Given the description of an element on the screen output the (x, y) to click on. 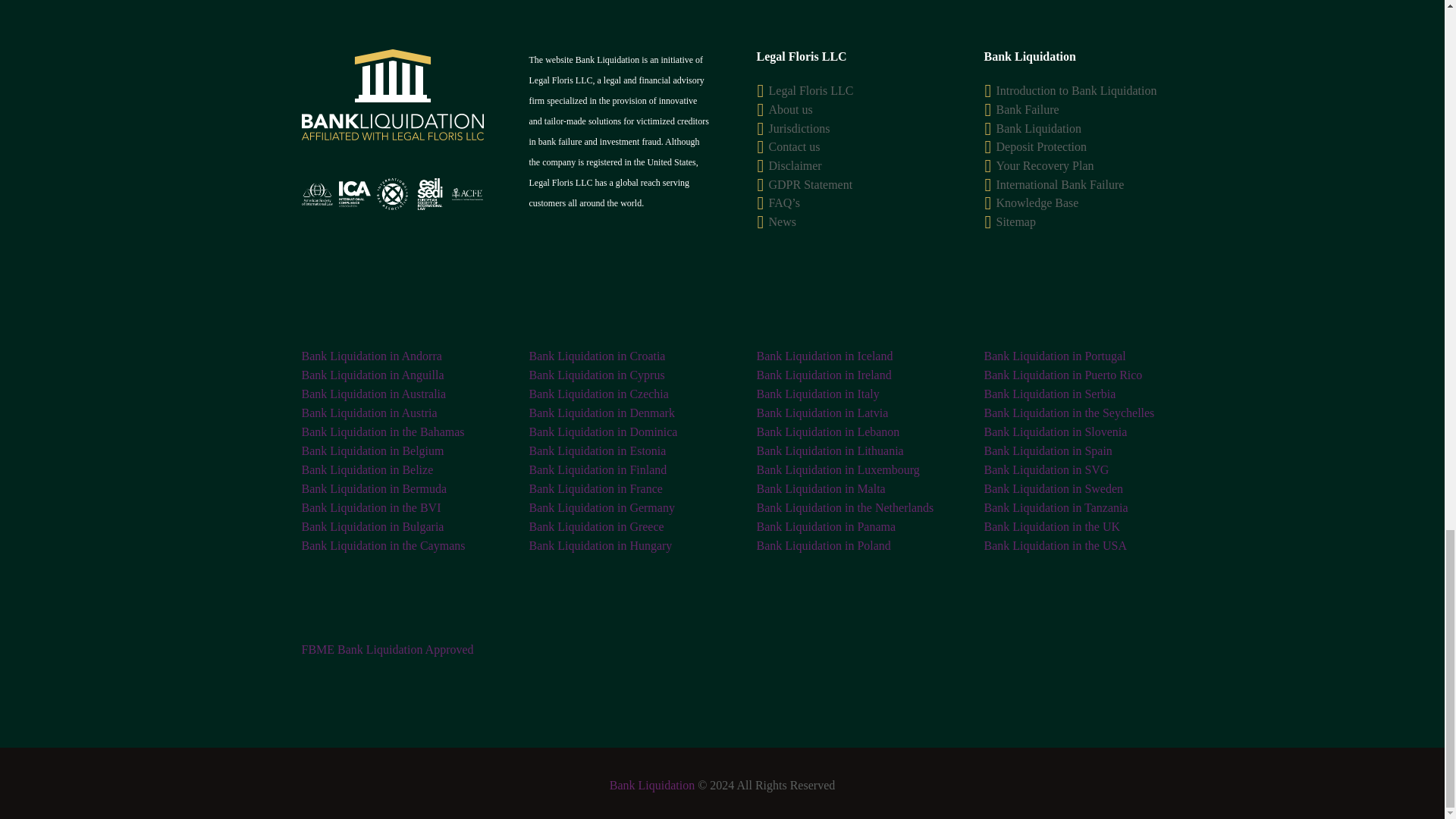
Bank Failure (1027, 109)
About us (790, 109)
Bank Liquidation in Austria (369, 412)
Bank Liquidation in Andorra (371, 355)
International Bank Failure (1059, 184)
Bank Liquidation in Bulgaria (372, 526)
Bank Liquidation in Belgium (372, 450)
Introduction to Bank Liquidation (1076, 90)
Bank Liquidation (1038, 128)
Bank Liquidation in Bermuda (373, 488)
Jurisdictions (798, 128)
Your Recovery Plan (1044, 164)
Knowledge Base (1036, 202)
Bank Liquidation in the Caymans (383, 545)
Disclaimer (795, 164)
